Given the description of an element on the screen output the (x, y) to click on. 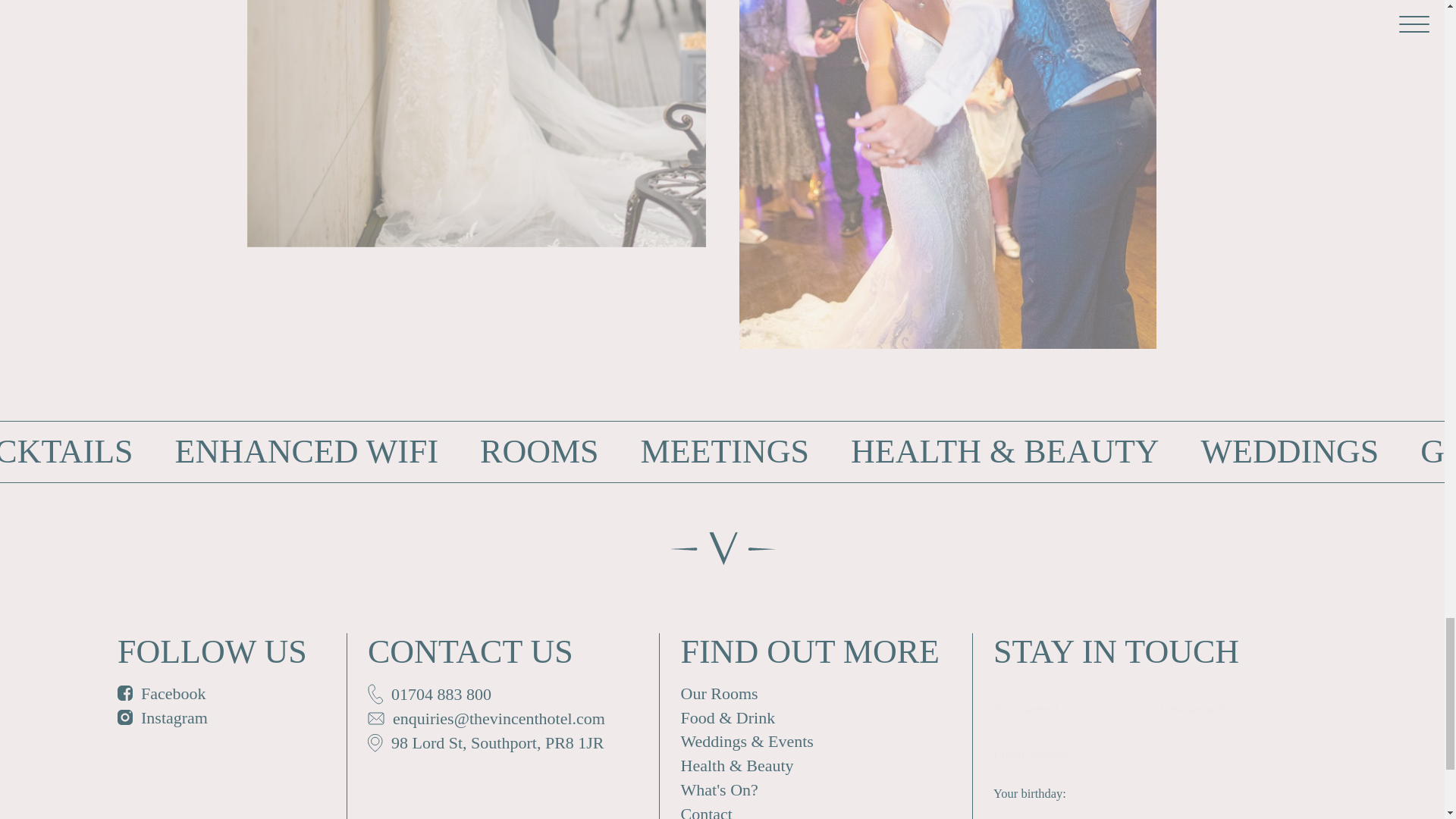
WEDDINGS (1289, 452)
Weddings (1289, 452)
Meetings (724, 452)
Cocktails (66, 452)
GIFT VOUCHERS (1438, 452)
ROOMS (539, 452)
COCKTAILS (66, 452)
Enhanced Wifi (306, 452)
Rooms (539, 452)
ENHANCED WIFI (306, 452)
MEETINGS (724, 452)
